Given the description of an element on the screen output the (x, y) to click on. 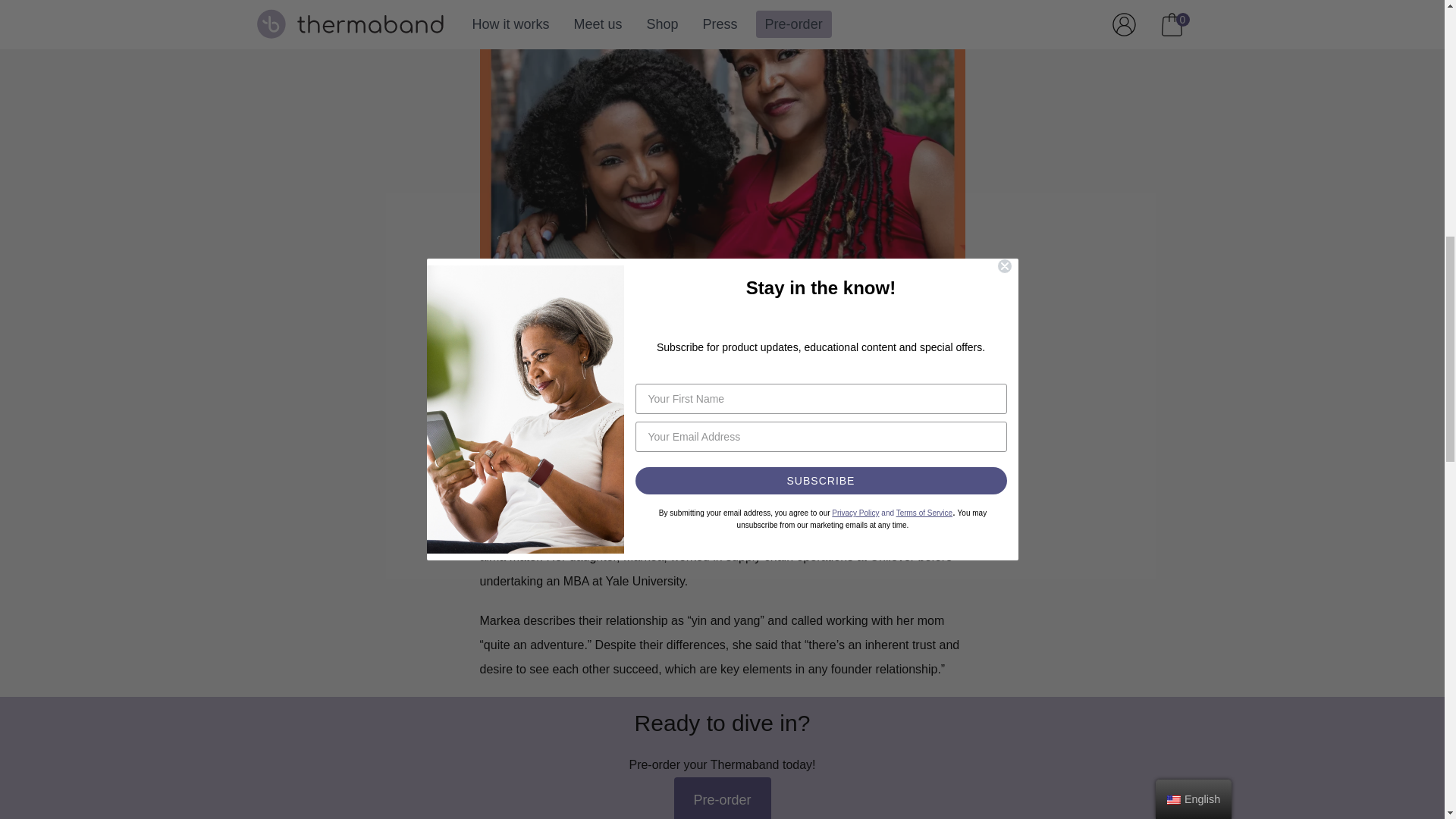
Pre-order (721, 798)
